Given the description of an element on the screen output the (x, y) to click on. 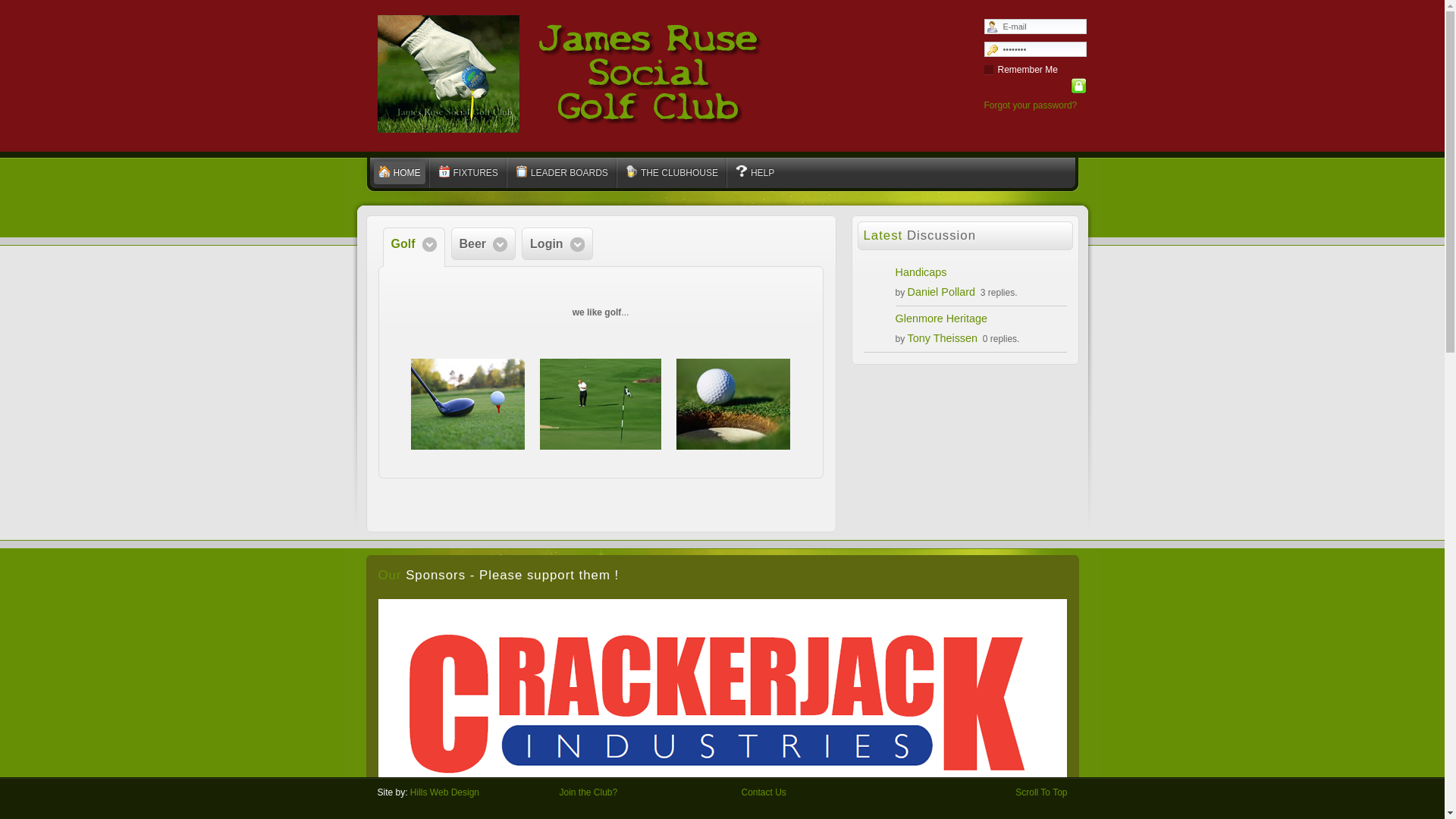
THE CLUBHOUSE Element type: text (671, 172)
Join the Club? Element type: text (588, 792)
Contact Us Element type: text (763, 792)
FIXTURES Element type: text (467, 172)
Forgot your password? Element type: text (1030, 105)
LEADER BOARDS Element type: text (561, 172)
Hills Web Design Element type: text (444, 792)
HOME Element type: text (398, 172)
Daniel Pollard Element type: text (941, 291)
Login Element type: hover (1078, 85)
HELP Element type: text (754, 172)
Tony Theissen Element type: text (942, 338)
Dural Christmas Tree Farm Element type: hover (721, 806)
Handicaps Element type: text (920, 272)
Glenmore Heritage Element type: text (940, 318)
